Given the description of an element on the screen output the (x, y) to click on. 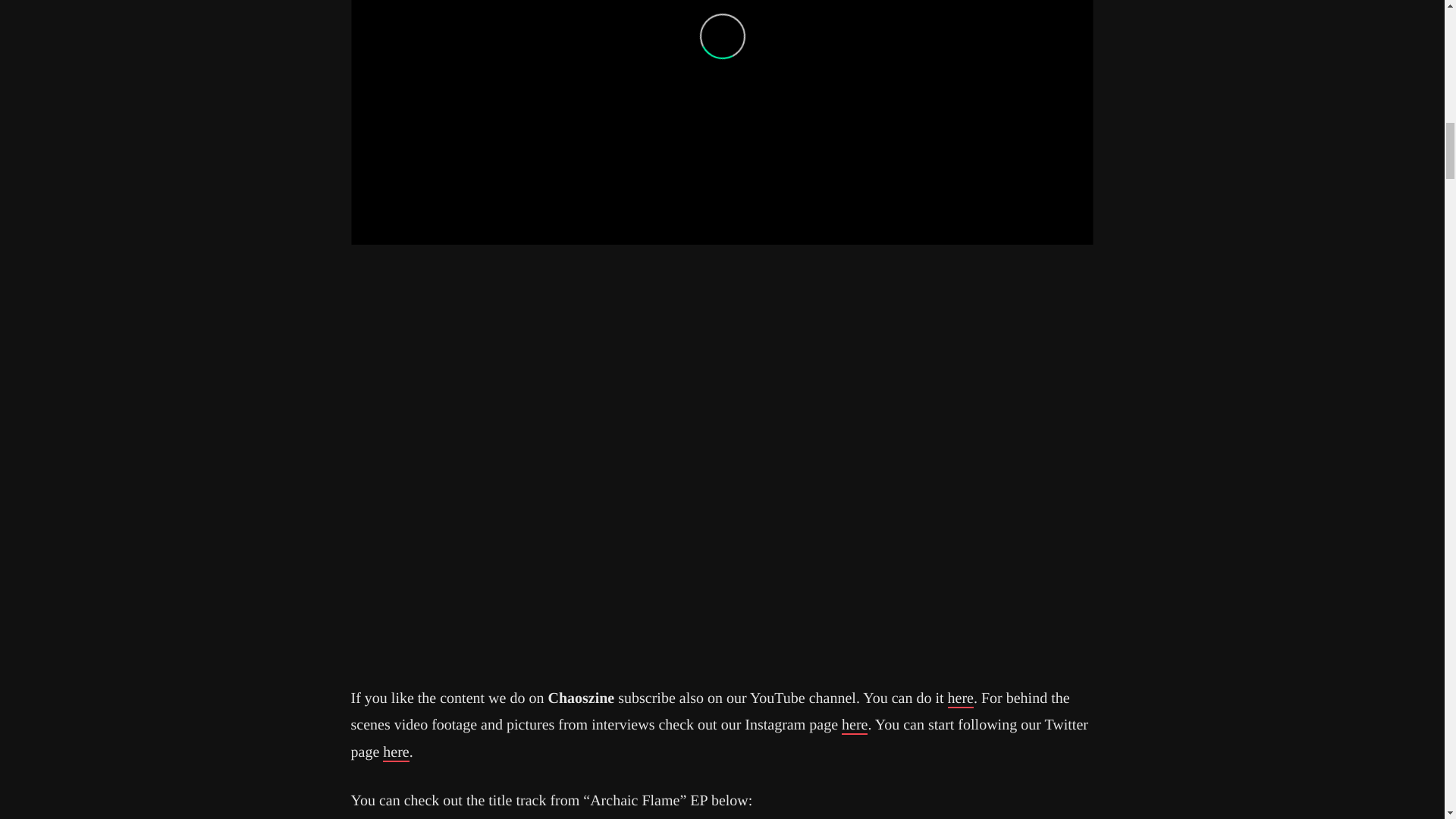
here (960, 699)
here (395, 752)
here (854, 725)
